Given the description of an element on the screen output the (x, y) to click on. 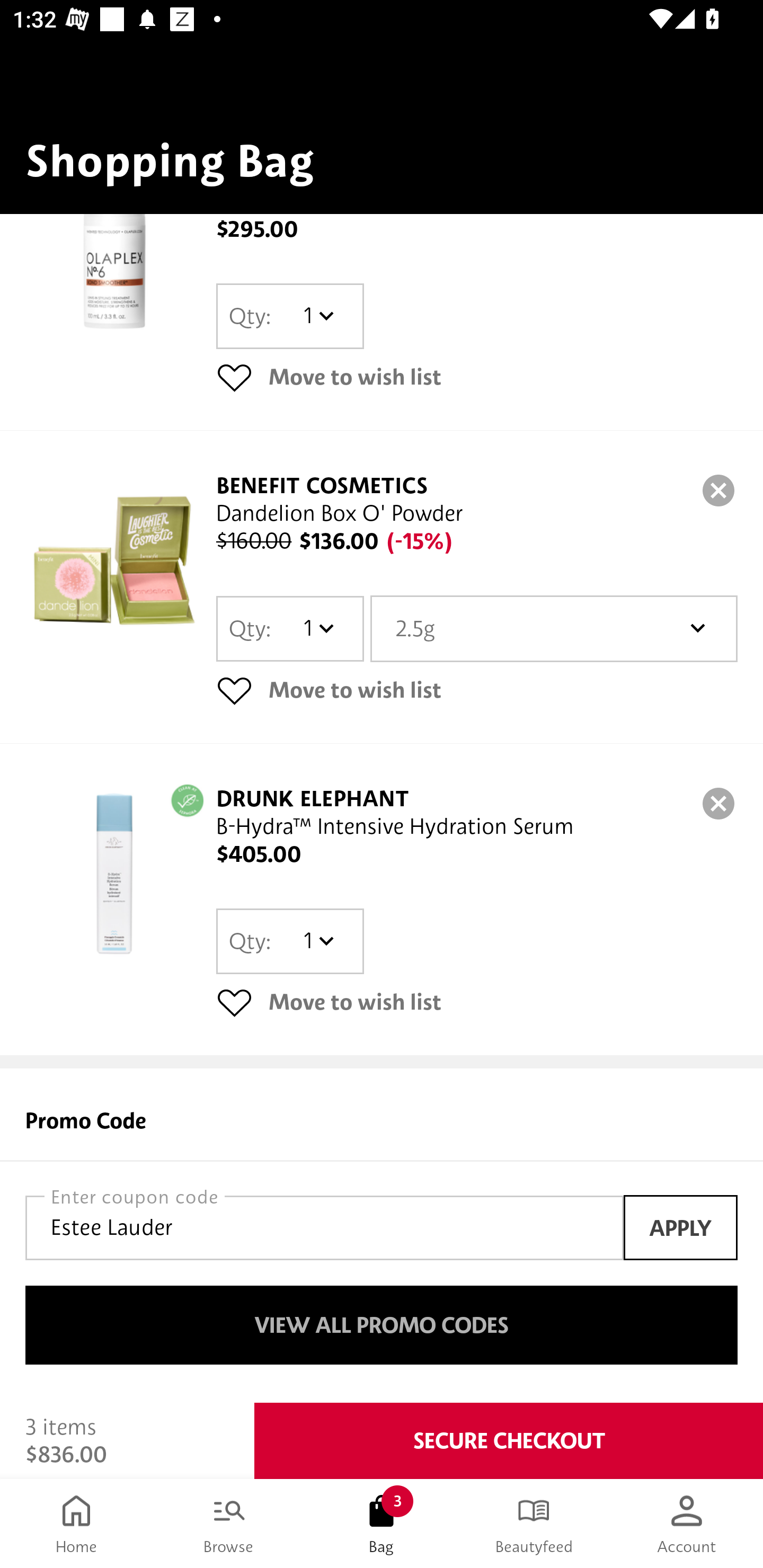
1 (317, 316)
Move to wish list (476, 376)
2.5g (553, 628)
1 (317, 628)
Move to wish list (476, 689)
1 (317, 940)
Move to wish list (476, 1001)
Promo Code Estee Lauder APPLY VIEW ALL PROMO CODES (381, 1235)
APPLY (680, 1227)
Estee Lauder (324, 1227)
VIEW ALL PROMO CODES (381, 1324)
SECURE CHECKOUT (508, 1440)
Home (76, 1523)
Browse (228, 1523)
Beautyfeed (533, 1523)
Account (686, 1523)
